Given the description of an element on the screen output the (x, y) to click on. 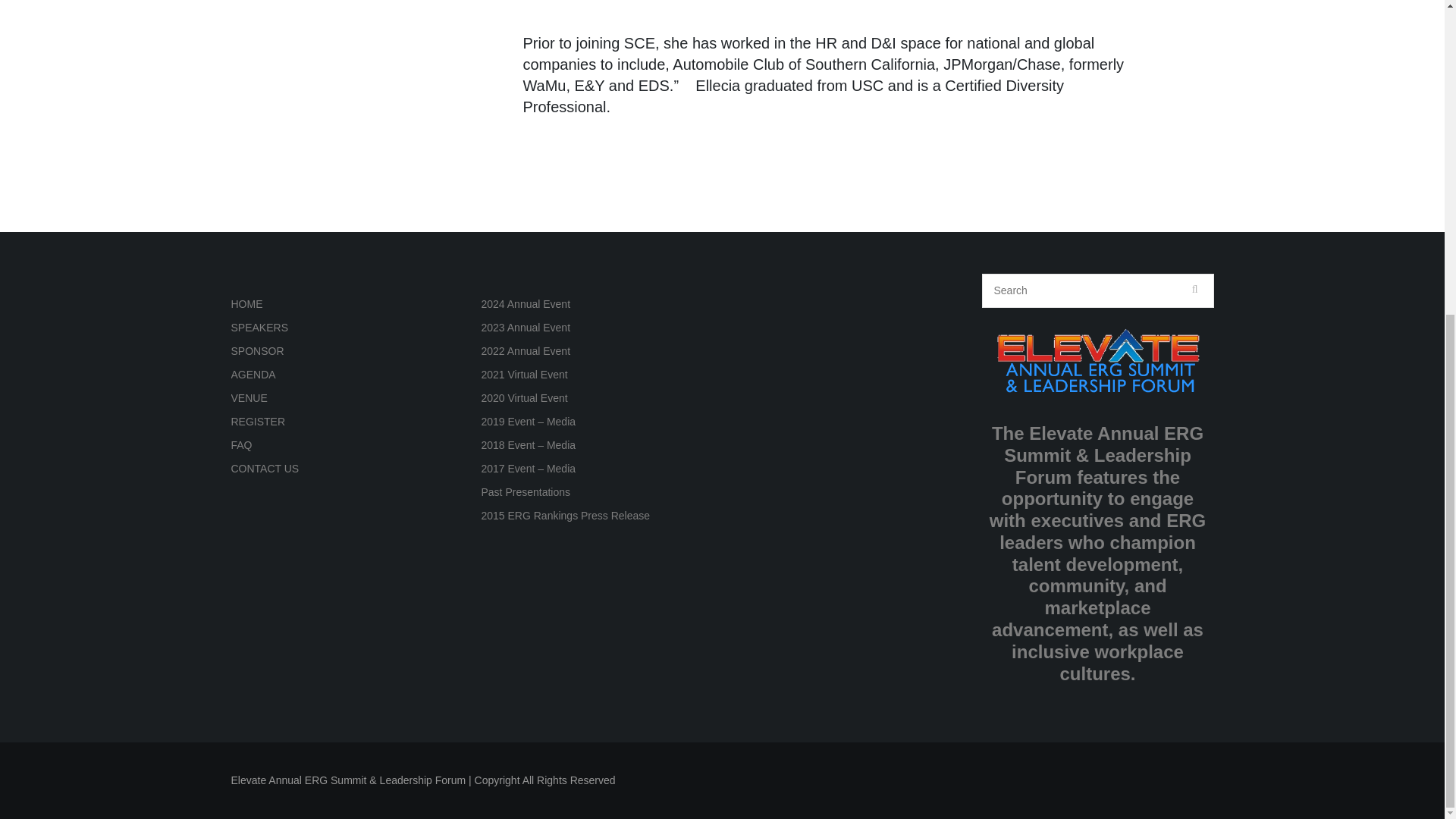
FAQ (240, 444)
SPEAKERS (258, 327)
AGENDA (252, 374)
Past Presentations (525, 491)
REGISTER (257, 421)
2020 Virtual Event (523, 398)
2023 Annual Event (525, 327)
2022 Annual Event (525, 350)
2015 ERG Rankings Press Release (564, 515)
2021 Virtual Event (523, 374)
HOME (246, 304)
2024 Annual Event (525, 304)
VENUE (248, 398)
CONTACT US (264, 468)
SPONSOR (256, 350)
